Given the description of an element on the screen output the (x, y) to click on. 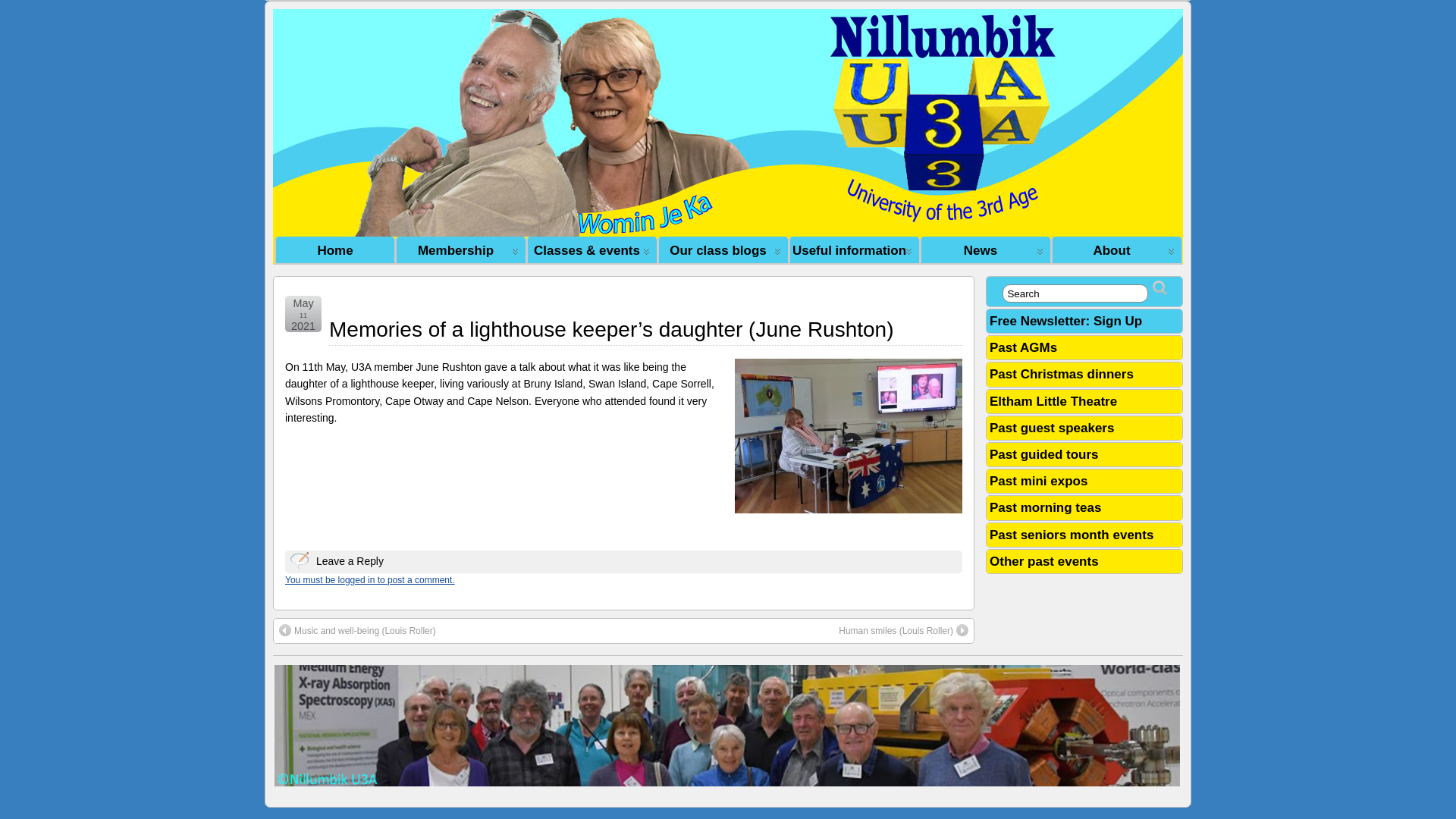
Home Element type: text (334, 249)
Eltham Little Theatre Element type: text (1053, 401)
 News Element type: text (985, 249)
Past Christmas dinners Element type: text (1061, 374)
 Useful information Element type: text (853, 249)
Past seniors month events Element type: text (1071, 534)
Past guided tours Element type: text (1043, 454)
Past AGMs Element type: text (1023, 347)
 Our class blogs Element type: text (723, 249)
Other past events Element type: text (1043, 561)
Past mini expos Element type: text (1038, 480)
You must be logged in to post a comment. Element type: text (370, 579)
 Membership Element type: text (460, 249)
 About Element type: text (1116, 249)
 Classes & events Element type: text (591, 249)
Past morning teas Element type: text (1045, 507)
  Human smiles (Louis Roller) Element type: text (903, 630)
  Music and well-being (Louis Roller) Element type: text (357, 630)
Past guest speakers Element type: text (1051, 427)
Free Newsletter: Sign Up Element type: text (1065, 320)
